Given the description of an element on the screen output the (x, y) to click on. 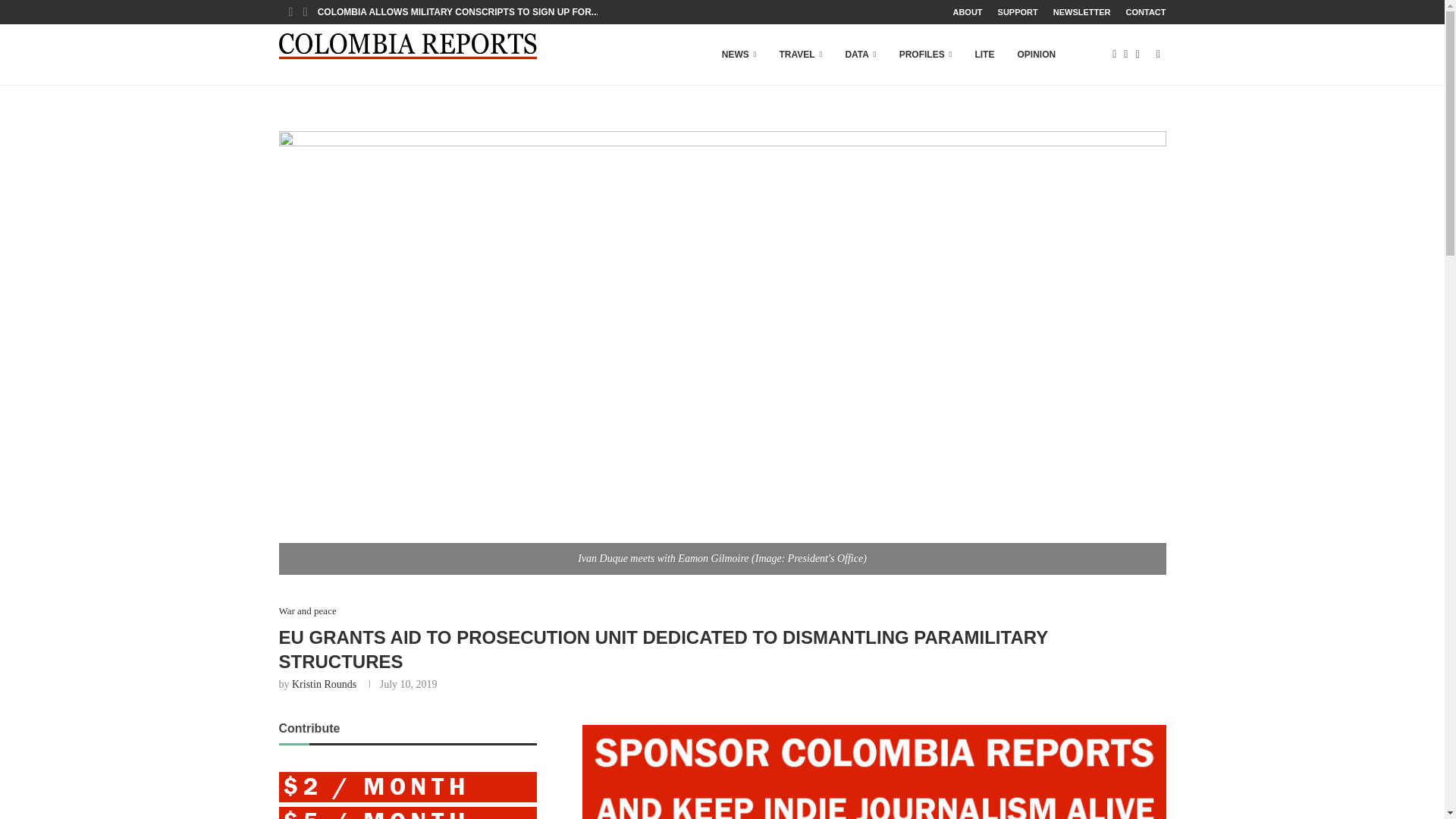
SUPPORT (1017, 12)
ABOUT (966, 12)
NEWS (739, 54)
CONTACT (1145, 12)
COLOMBIA ALLOWS MILITARY CONSCRIPTS TO SIGN UP FOR... (457, 12)
TRAVEL (801, 54)
NEWSLETTER (1081, 12)
